Given the description of an element on the screen output the (x, y) to click on. 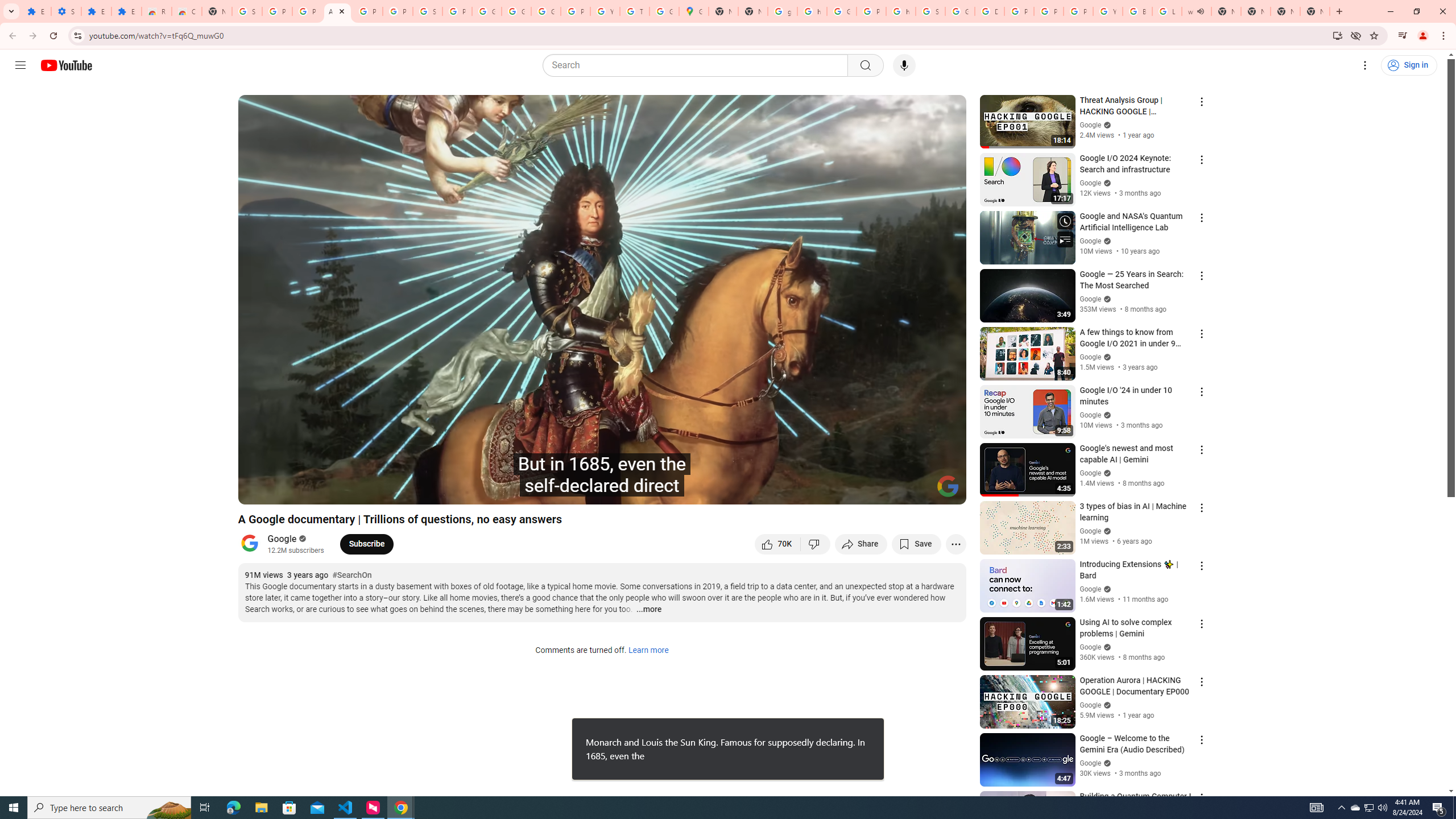
Settings (1365, 65)
Subscribe to Google. (366, 543)
Install YouTube (1336, 35)
Sign in - Google Accounts (426, 11)
Full screen (f) (945, 490)
Pause (k) (257, 490)
Theater mode (t) (917, 490)
